Given the description of an element on the screen output the (x, y) to click on. 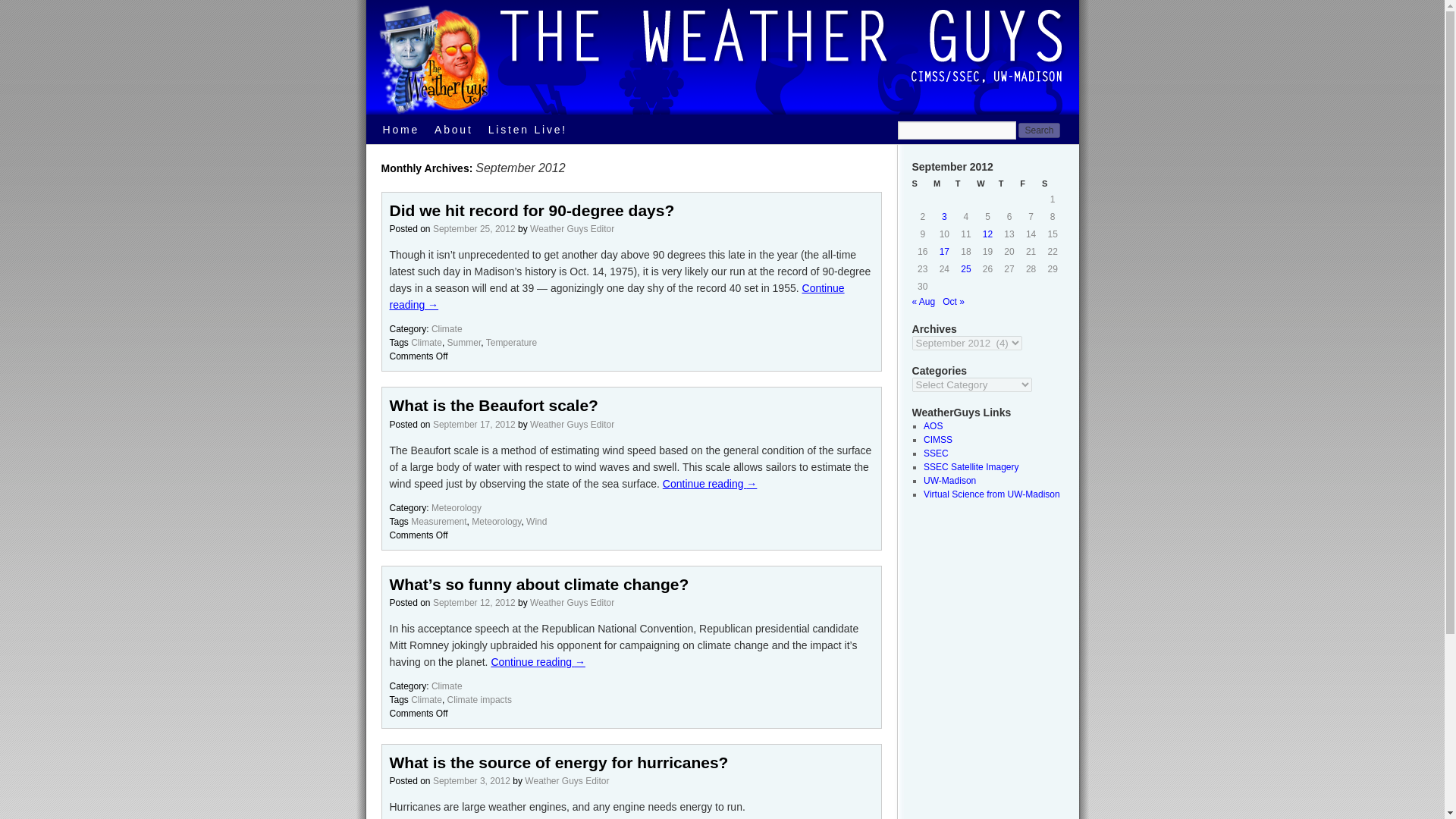
Permalink to Did we hit record for 90-degree days? (532, 210)
View all posts by Weather Guys Editor (571, 602)
Summer (463, 342)
Meteorology (455, 507)
Search (1038, 130)
Home (400, 129)
Weather Guys Editor (566, 780)
11:09 am (473, 228)
Temperature (511, 342)
Permalink to What is the Beaufort scale? (494, 405)
September 17, 2012 (473, 424)
Weather Guys Editor (571, 424)
Weather Guys Editor (571, 602)
Climate (446, 685)
View all posts by Weather Guys Editor (571, 228)
